Given the description of an element on the screen output the (x, y) to click on. 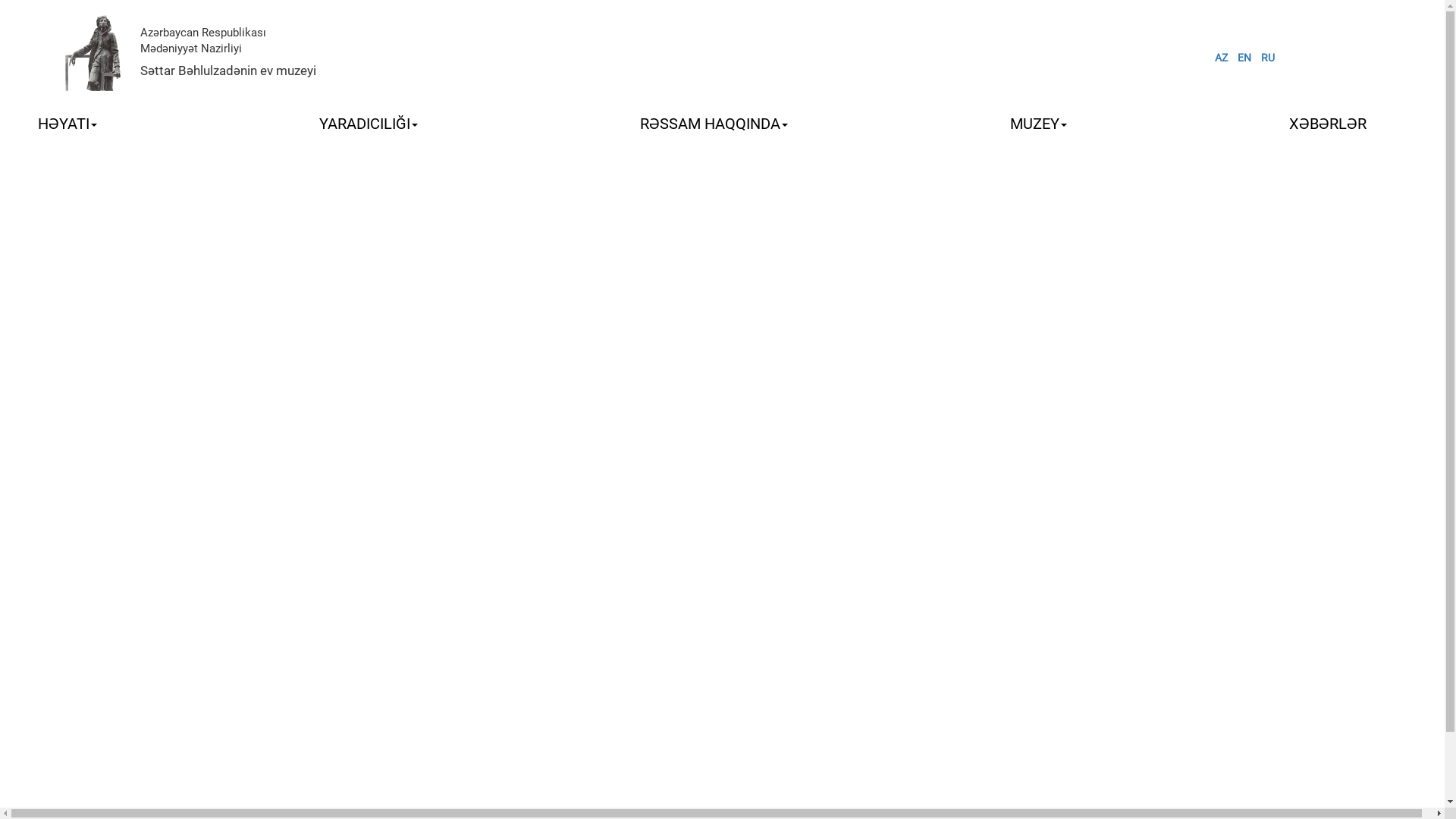
MUZEY Element type: text (1038, 123)
RU Element type: text (1267, 57)
AZ Element type: text (1220, 57)
EN Element type: text (1244, 57)
